Given the description of an element on the screen output the (x, y) to click on. 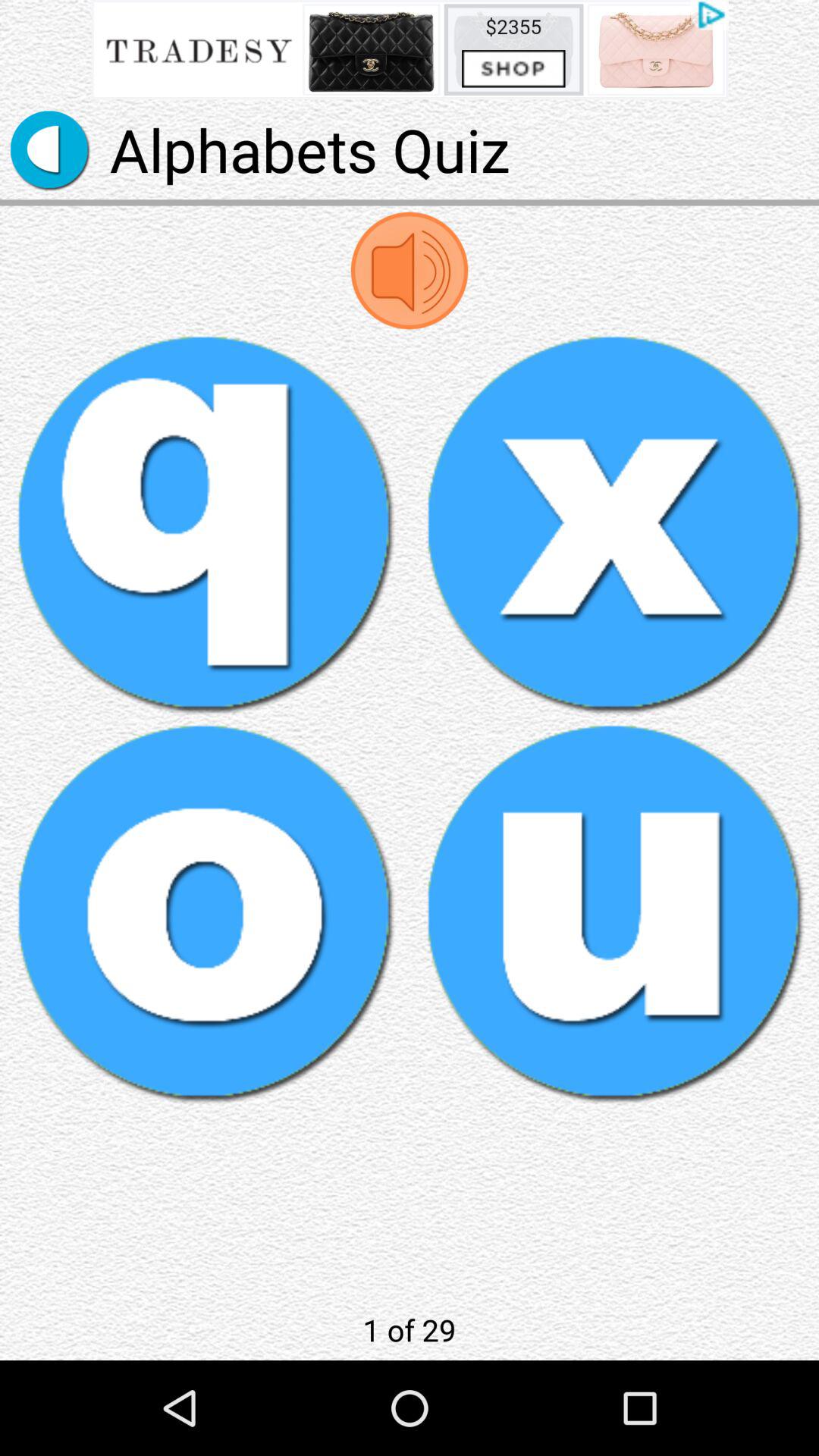
go to advertisement website (409, 49)
